Given the description of an element on the screen output the (x, y) to click on. 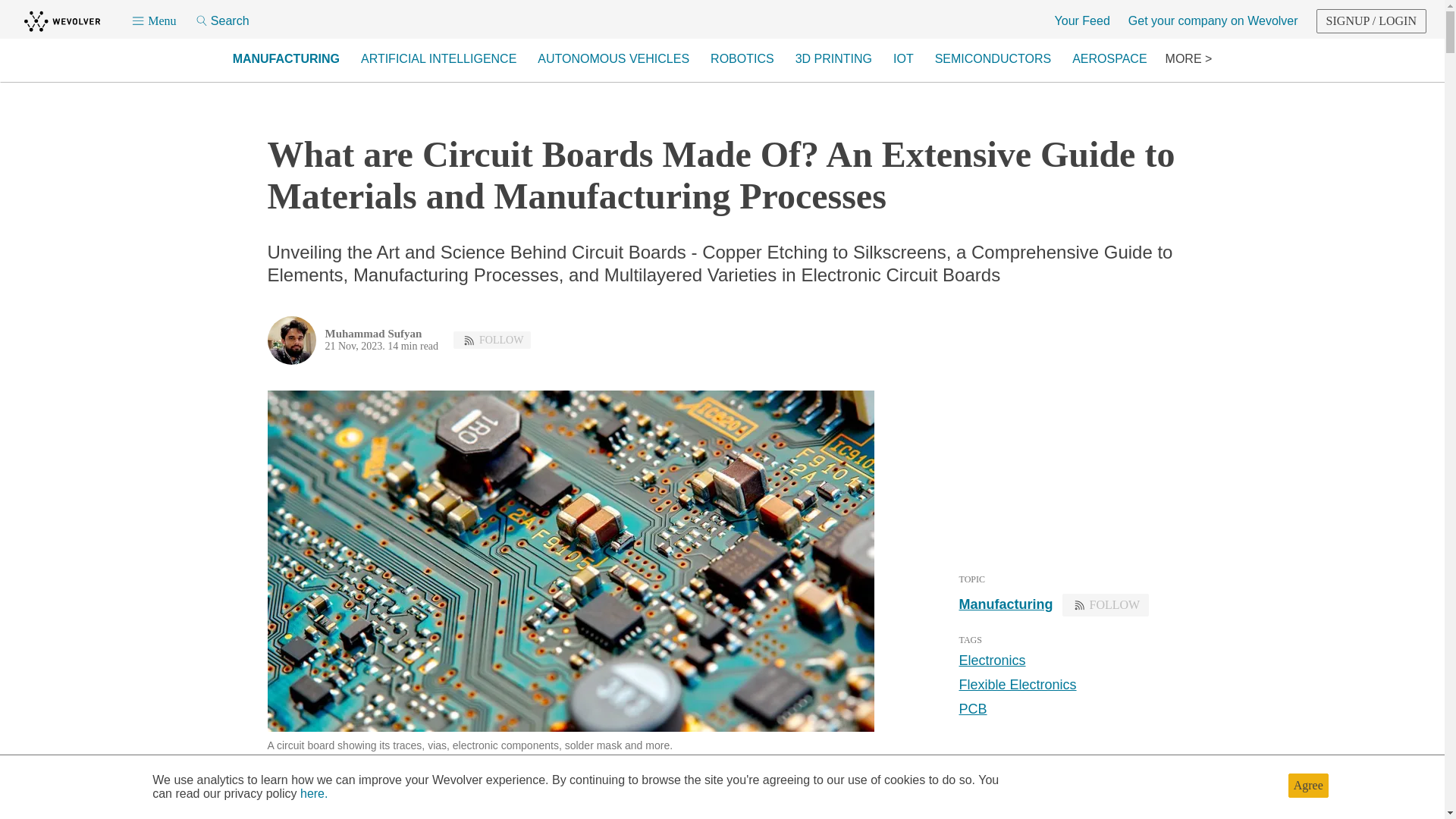
SEMICONDUCTORS (993, 59)
Electronics (991, 660)
AUTONOMOUS VEHICLES (613, 59)
Your Feed (1081, 20)
3D PRINTING (833, 59)
Get your company on Wevolver (1213, 20)
Manufacturing (1005, 604)
FOLLOW (1104, 603)
FOLLOW (491, 339)
MANUFACTURING (286, 59)
